Given the description of an element on the screen output the (x, y) to click on. 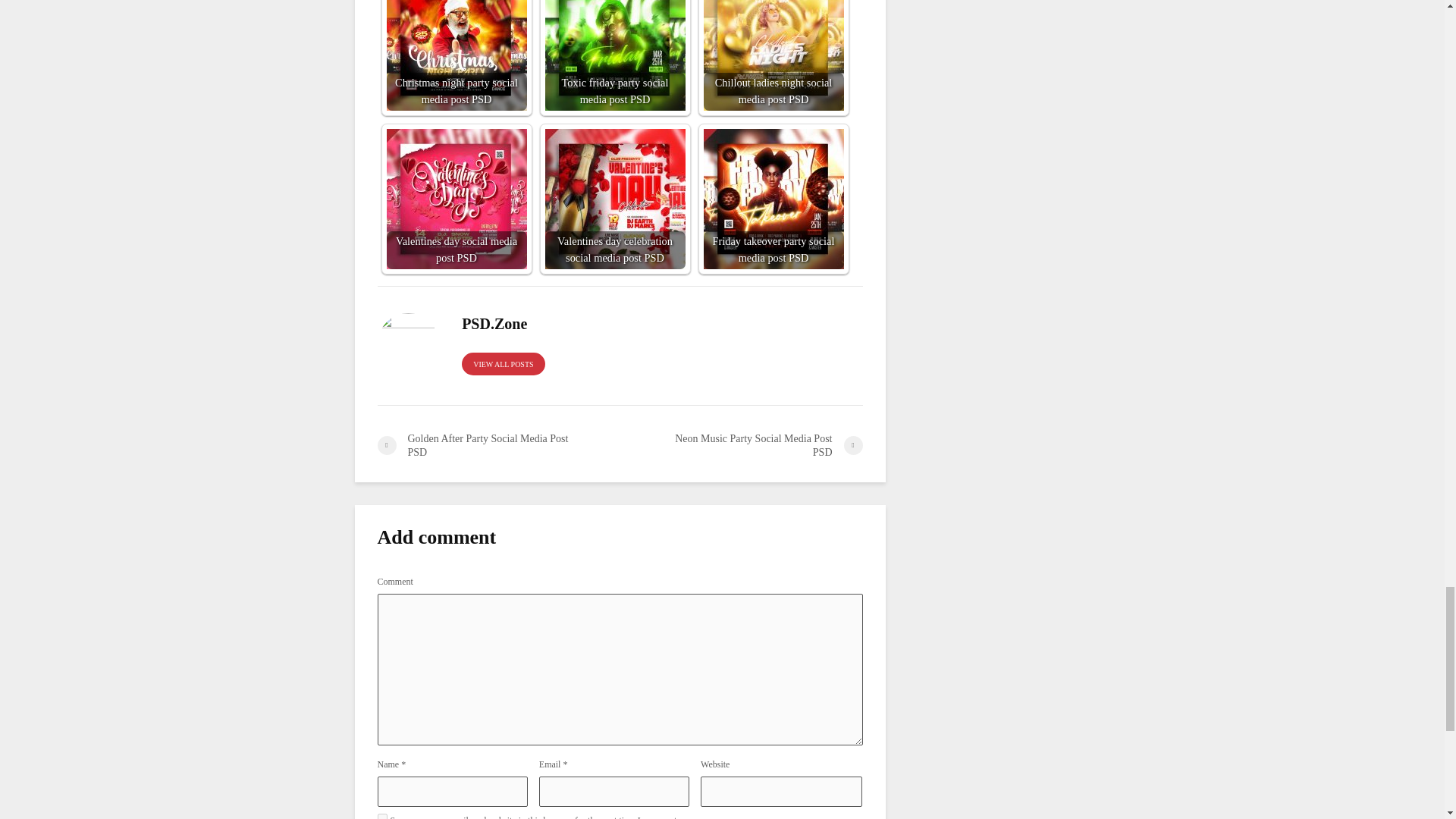
Christmas night party social media post PSD (457, 55)
yes (382, 816)
Valentines day social media post PSD (457, 198)
Toxic friday party social media post PSD (614, 55)
Friday takeover party social media post PSD (773, 198)
Chillout ladies night social media post PSD (773, 55)
Valentines day celebration social media post PSD (614, 198)
